Given the description of an element on the screen output the (x, y) to click on. 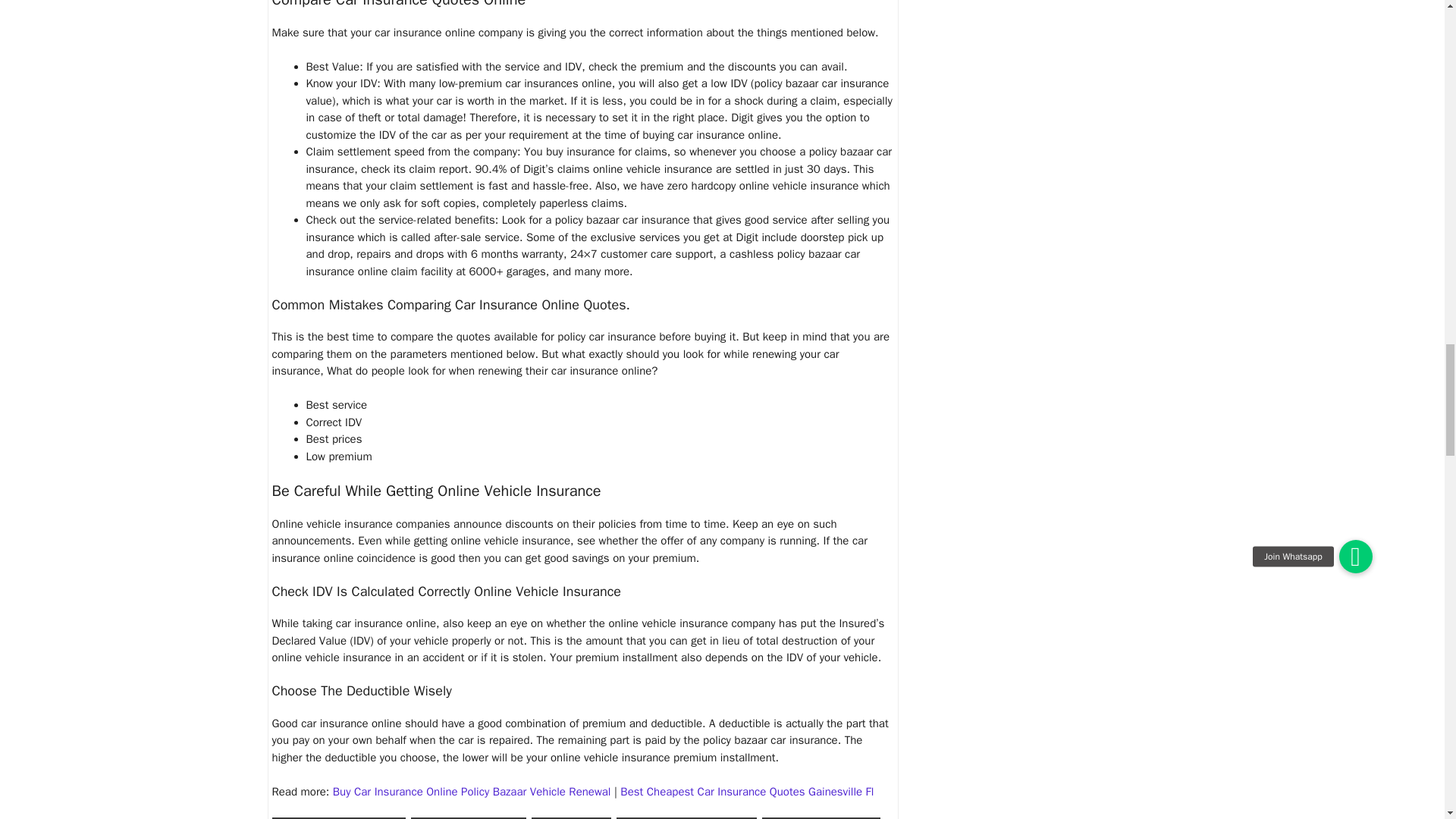
compare car insurance online (820, 818)
Buy Car Insurance Online Policy Bazaar Vehicle Renewal (472, 791)
car insurance renewal online (467, 818)
commercial vehicle insurance online (686, 818)
Best Cheapest Car Insurance Quotes Gainesville Fl (746, 791)
bajaj allianz car insurance renewal (338, 818)
car policy renewal (571, 818)
